Given the description of an element on the screen output the (x, y) to click on. 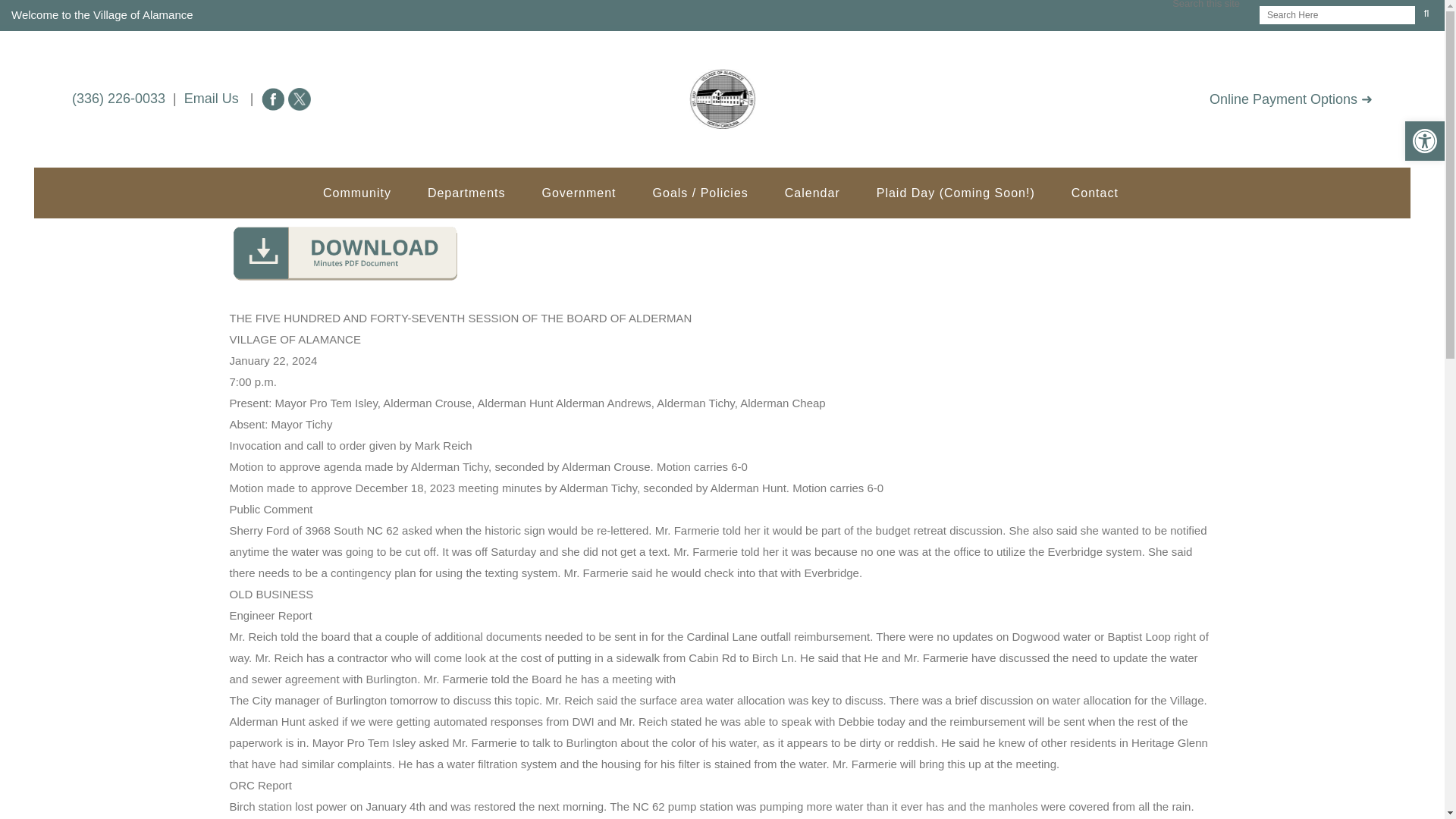
Accessibility Tools (1424, 140)
Email Us (211, 98)
Departments (466, 192)
Calendar (813, 192)
Community (356, 192)
Government (577, 192)
minutesbutton (343, 252)
